Given the description of an element on the screen output the (x, y) to click on. 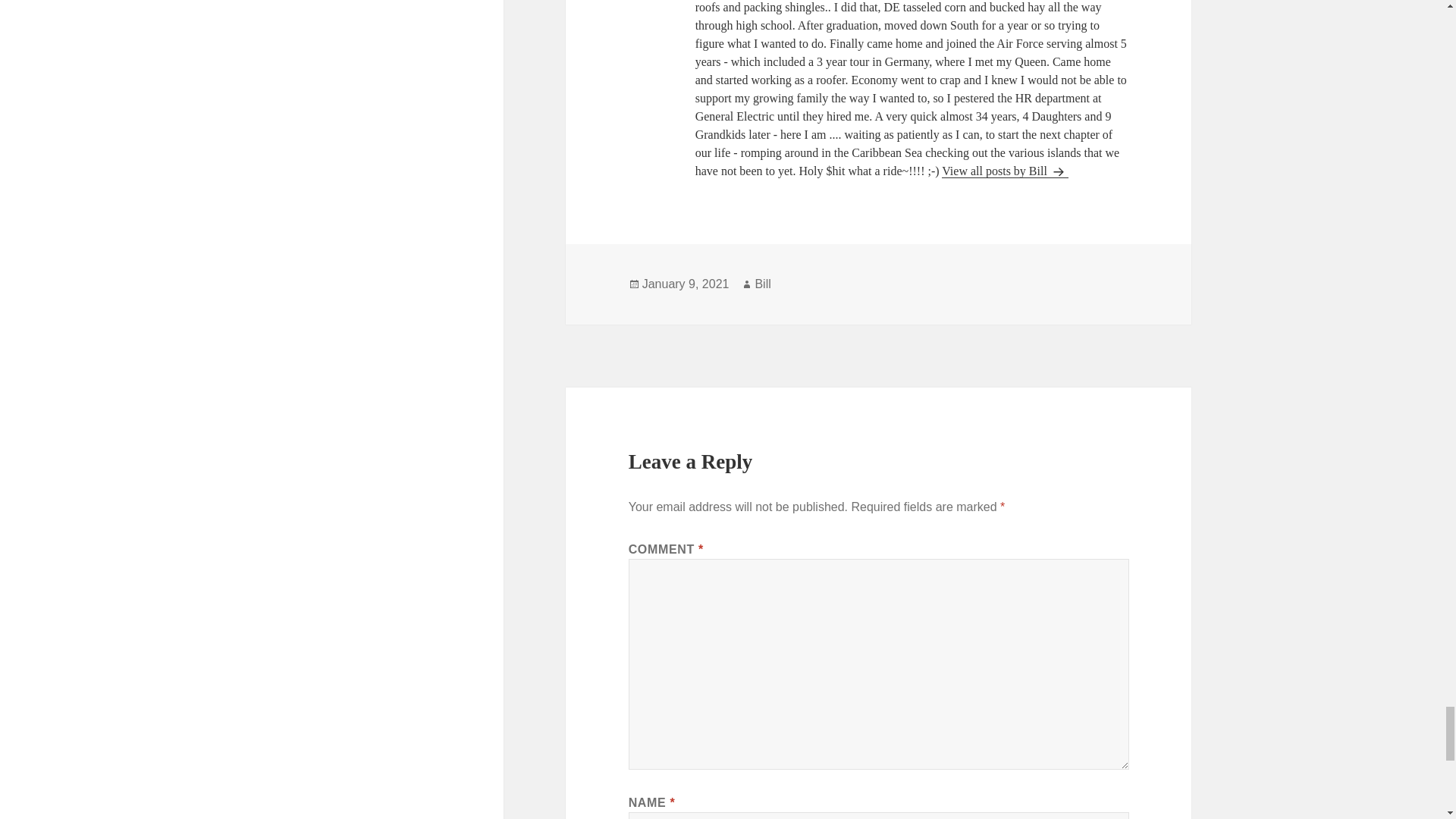
View all posts by Bill (1005, 171)
January 9, 2021 (685, 284)
Bill (762, 284)
